Given the description of an element on the screen output the (x, y) to click on. 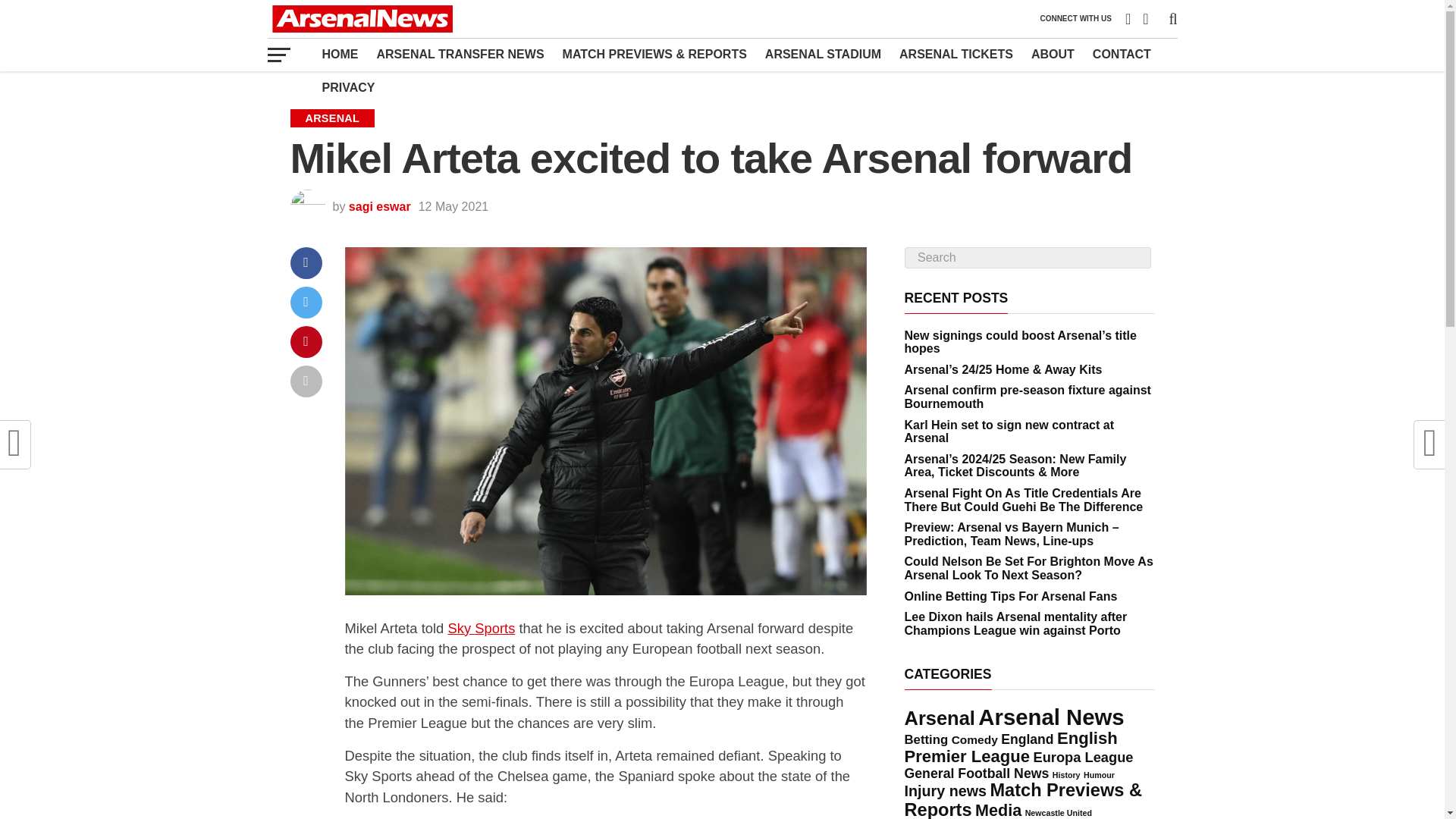
PRIVACY (348, 87)
HOME (339, 54)
Online Betting Tips For Arsenal Fans (1010, 595)
Sky Sports (480, 627)
ARSENAL STADIUM (822, 54)
Posts by sagi eswar (379, 205)
Arsenal confirm pre-season fixture against Bournemouth (1027, 397)
ARSENAL TRANSFER NEWS (459, 54)
ARSENAL TICKETS (955, 54)
